Given the description of an element on the screen output the (x, y) to click on. 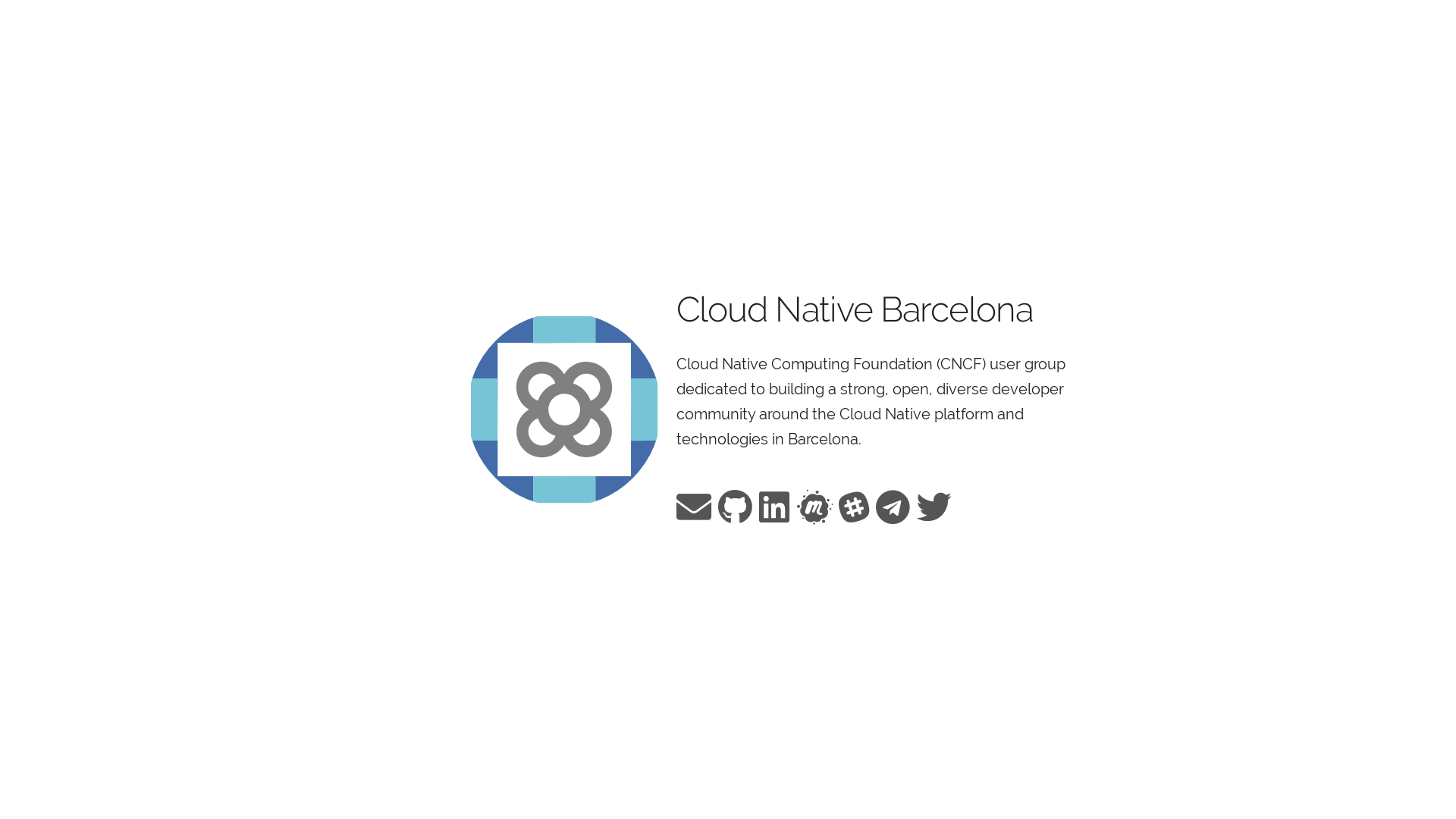
twitter Element type: hover (933, 506)
email Element type: hover (693, 506)
slack Element type: hover (853, 506)
meetup Element type: hover (814, 506)
telegram Element type: hover (892, 506)
linkedin Element type: hover (773, 506)
github Element type: hover (734, 506)
